Given the description of an element on the screen output the (x, y) to click on. 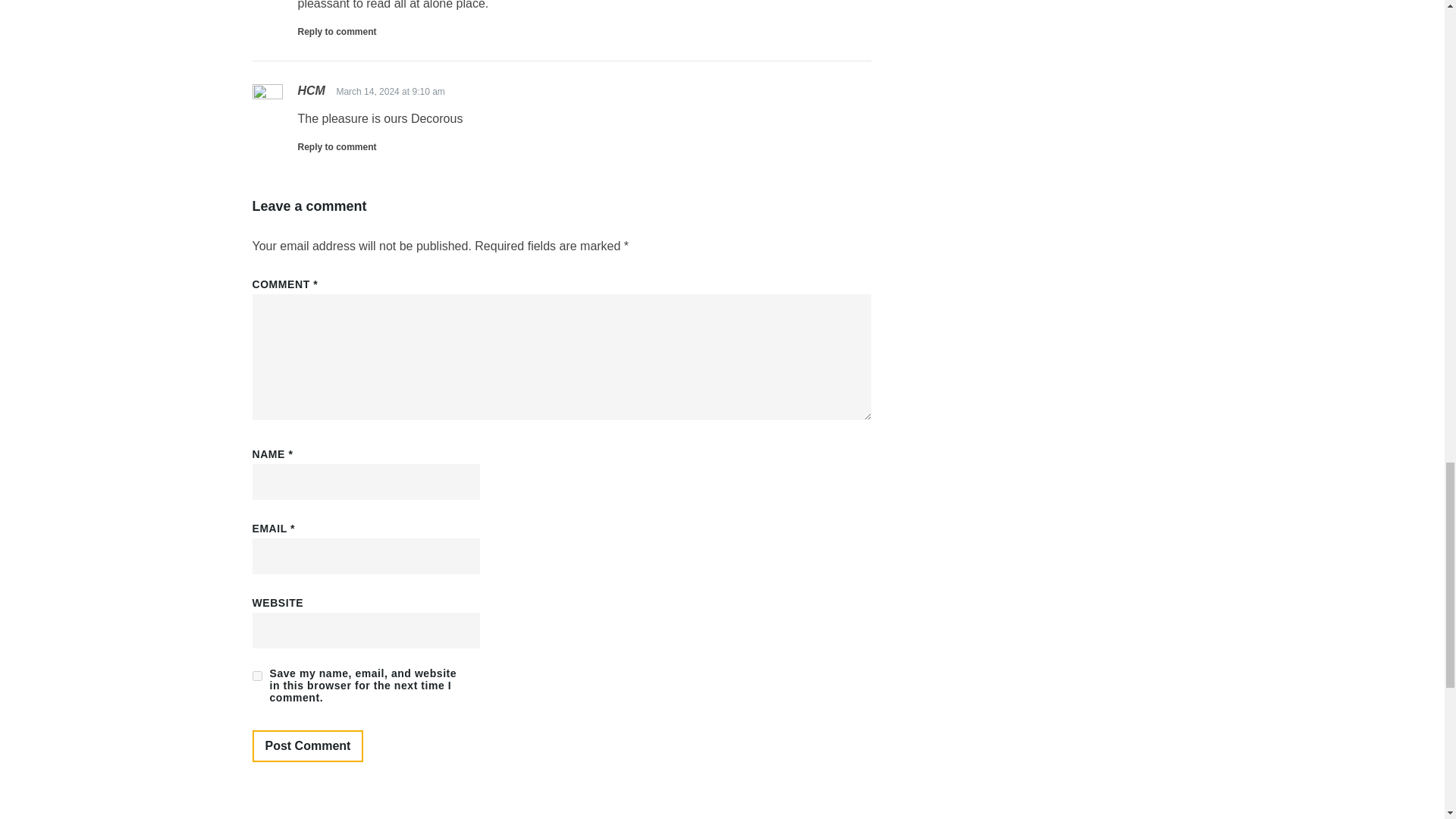
March 14, 2024 at 9:10 am (390, 91)
HCM (310, 90)
Reply to comment (336, 146)
Reply to comment (336, 31)
yes (256, 675)
Post Comment (306, 746)
Post Comment (306, 746)
